Given the description of an element on the screen output the (x, y) to click on. 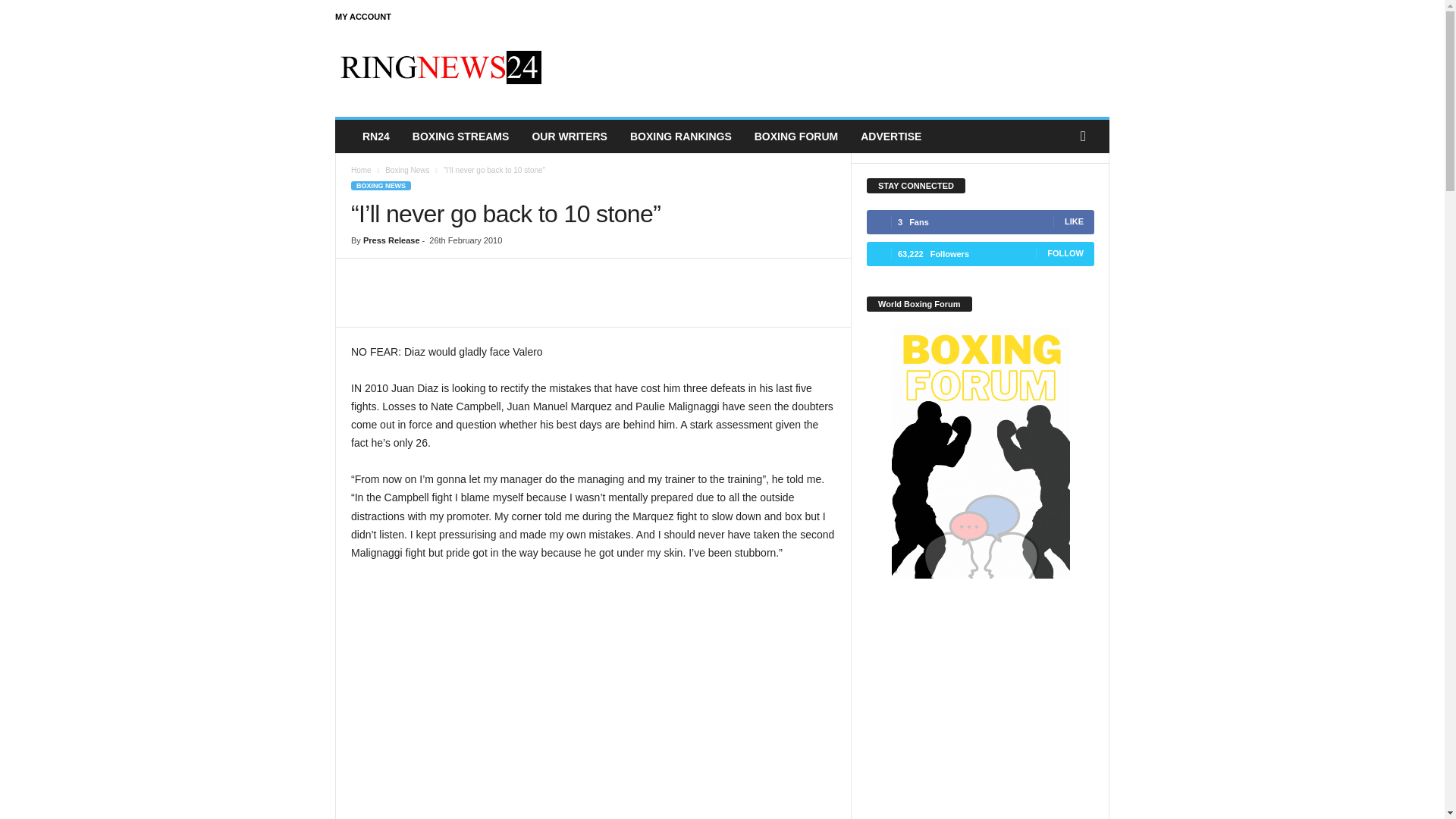
topFacebookLike (390, 273)
BOXING NEWS (380, 185)
ADVERTISE (890, 136)
BOXING FORUM (795, 136)
Boxing News (407, 170)
RN24 (375, 136)
BOXING RANKINGS (680, 136)
BOXING STREAMS (461, 136)
View all posts in Boxing News (407, 170)
Press Release (391, 239)
